Given the description of an element on the screen output the (x, y) to click on. 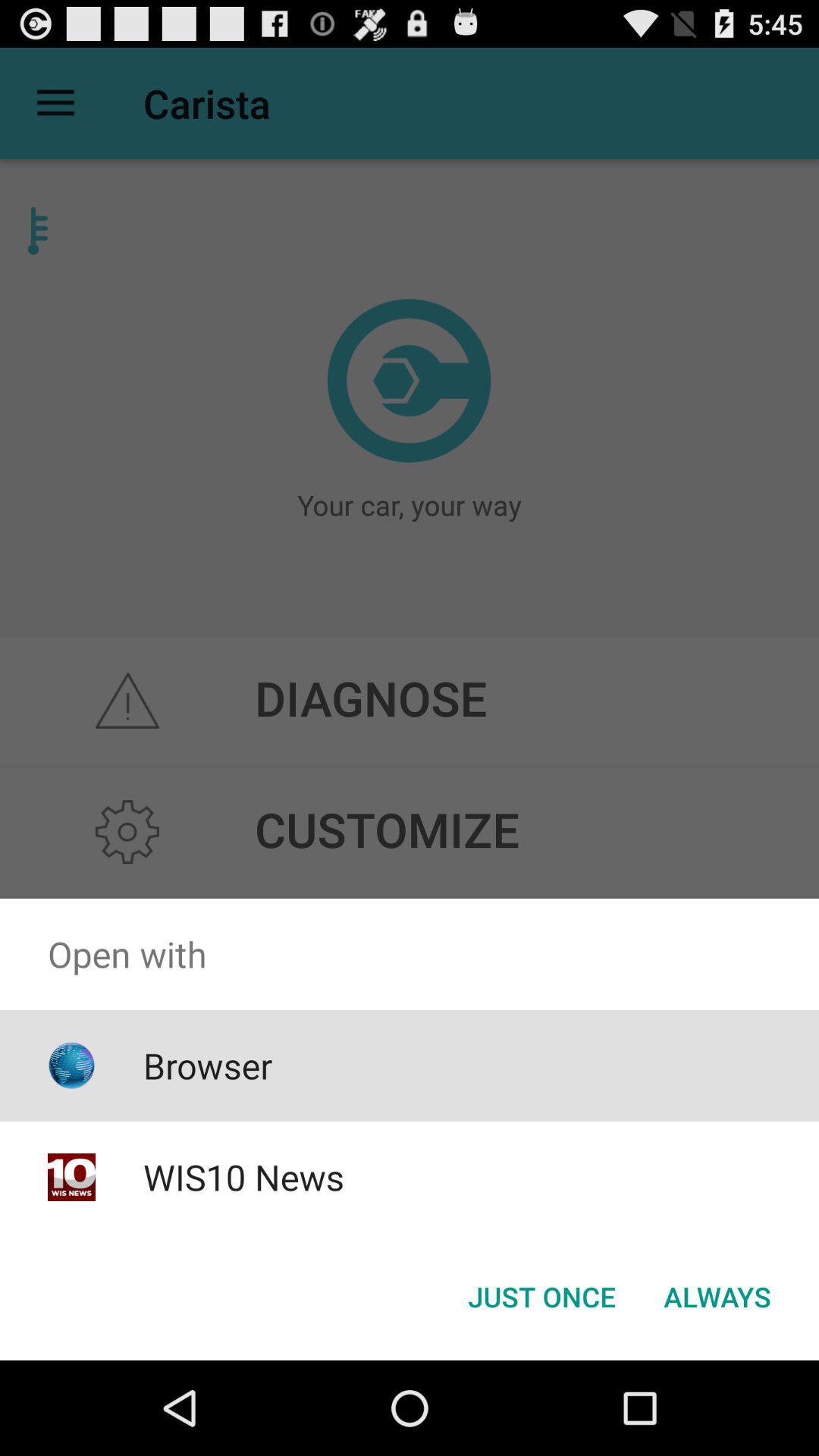
select the app below the open with (541, 1296)
